Given the description of an element on the screen output the (x, y) to click on. 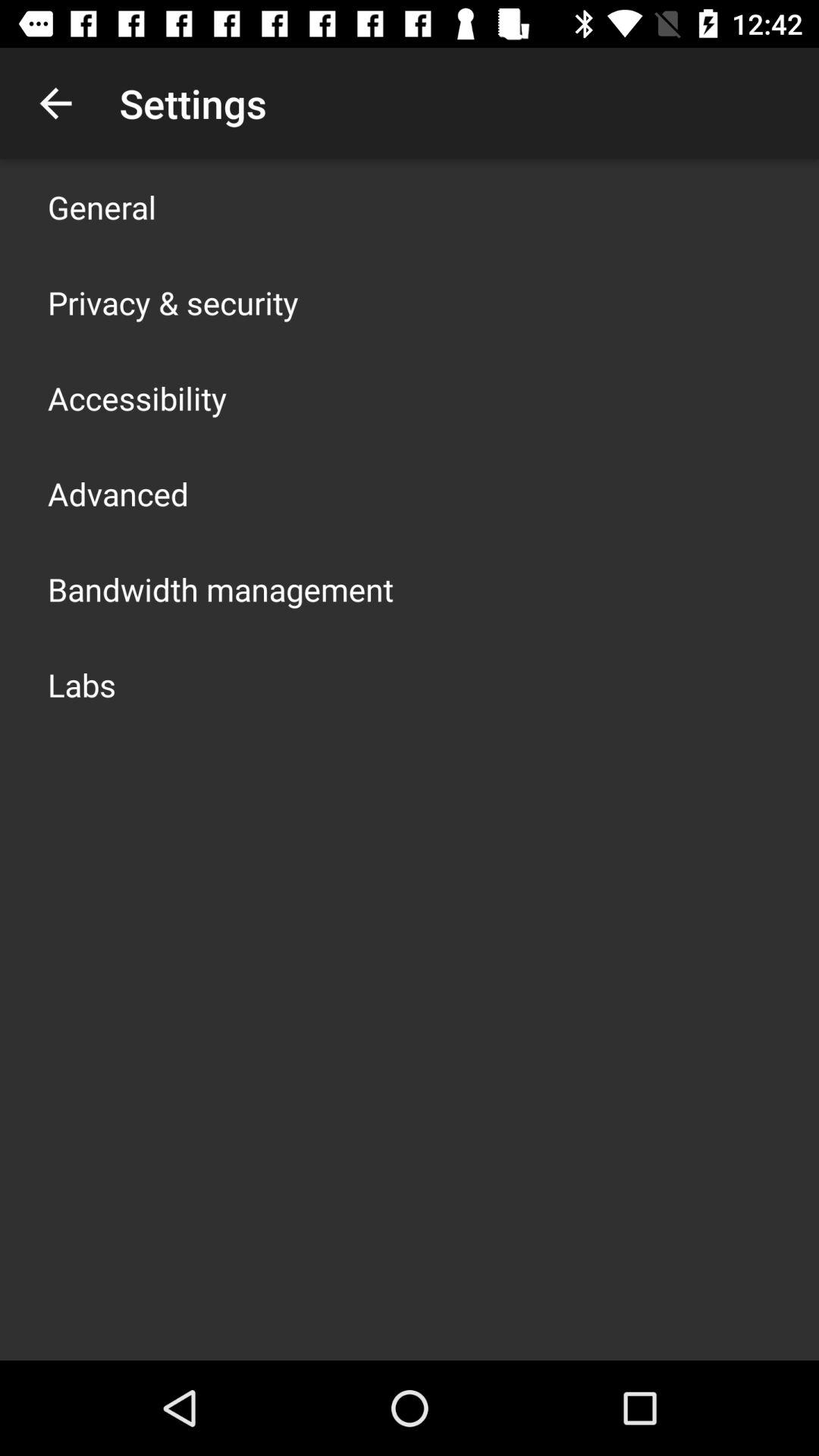
choose general (101, 206)
